Given the description of an element on the screen output the (x, y) to click on. 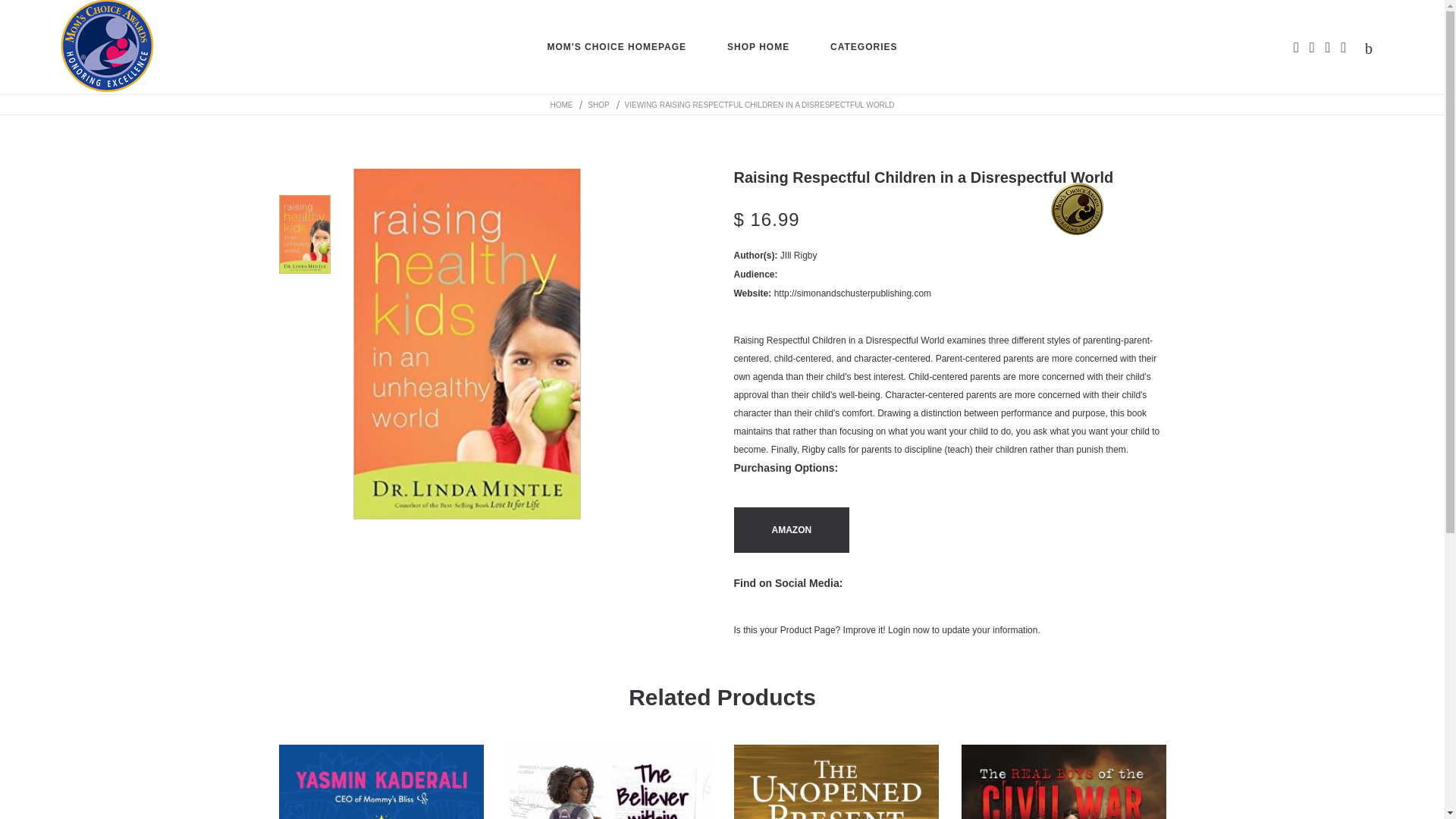
CATEGORIES (862, 46)
MCA Gold Award (1076, 208)
SHOP HOME (757, 46)
MOM'S CHOICE HOMEPAGE (615, 46)
